Given the description of an element on the screen output the (x, y) to click on. 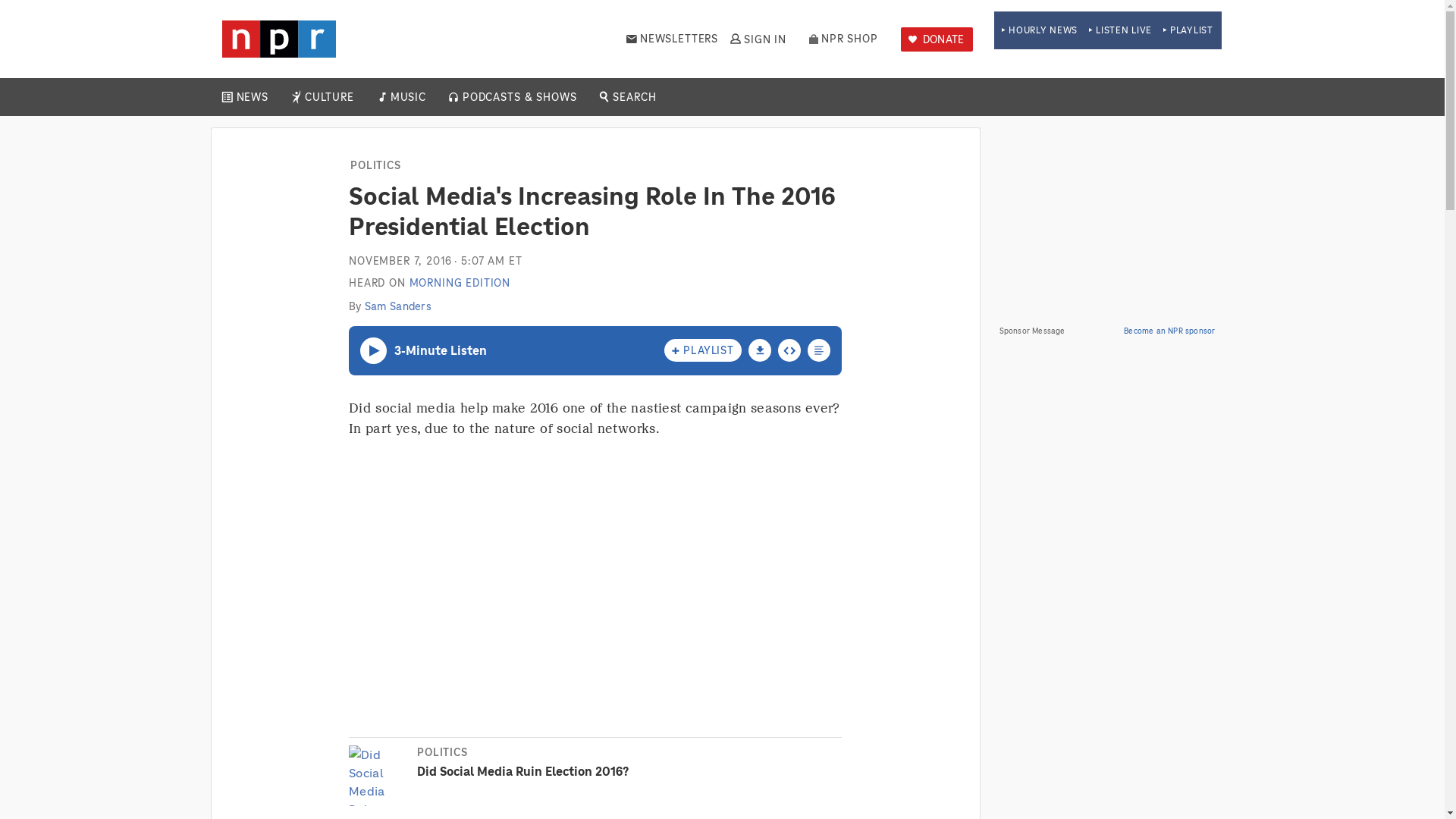
DONATE (936, 39)
PLAYLIST (1187, 30)
MUSIC (407, 96)
HOURLY NEWS (1039, 30)
NPR SHOP (843, 38)
LISTEN LIVE (1120, 30)
SIGN IN (757, 38)
NEWSLETTERS (671, 38)
NEWS (251, 96)
CULTURE (328, 96)
